Given the description of an element on the screen output the (x, y) to click on. 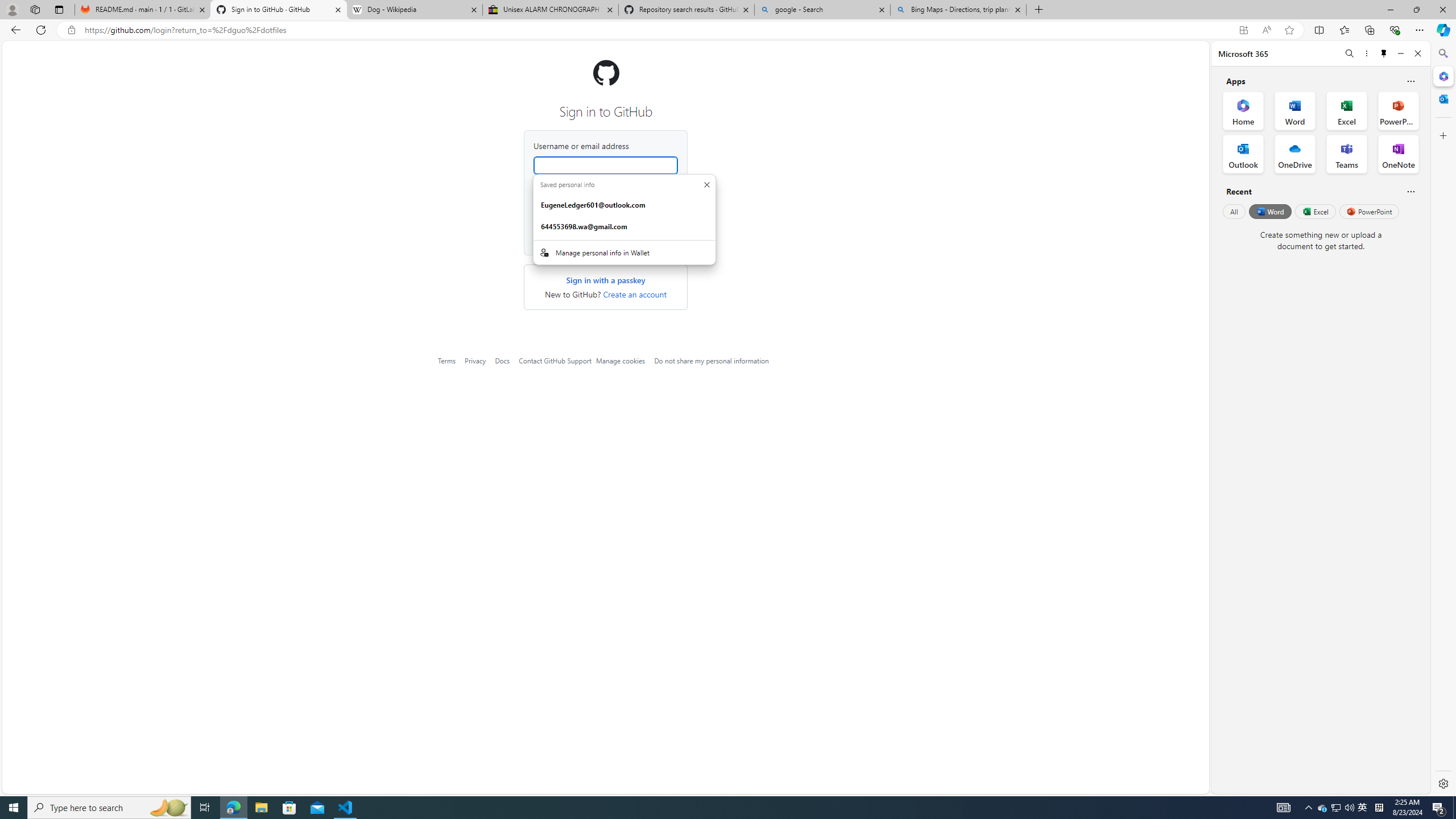
EugeneLedger601@outlook.com. :Basic info suggestion. (624, 205)
Homepage (605, 72)
Microsoft 365 (1442, 76)
Manage cookies (620, 360)
Home Office App (1243, 110)
Contact GitHub Support (554, 360)
Do not share my personal information (710, 360)
